Given the description of an element on the screen output the (x, y) to click on. 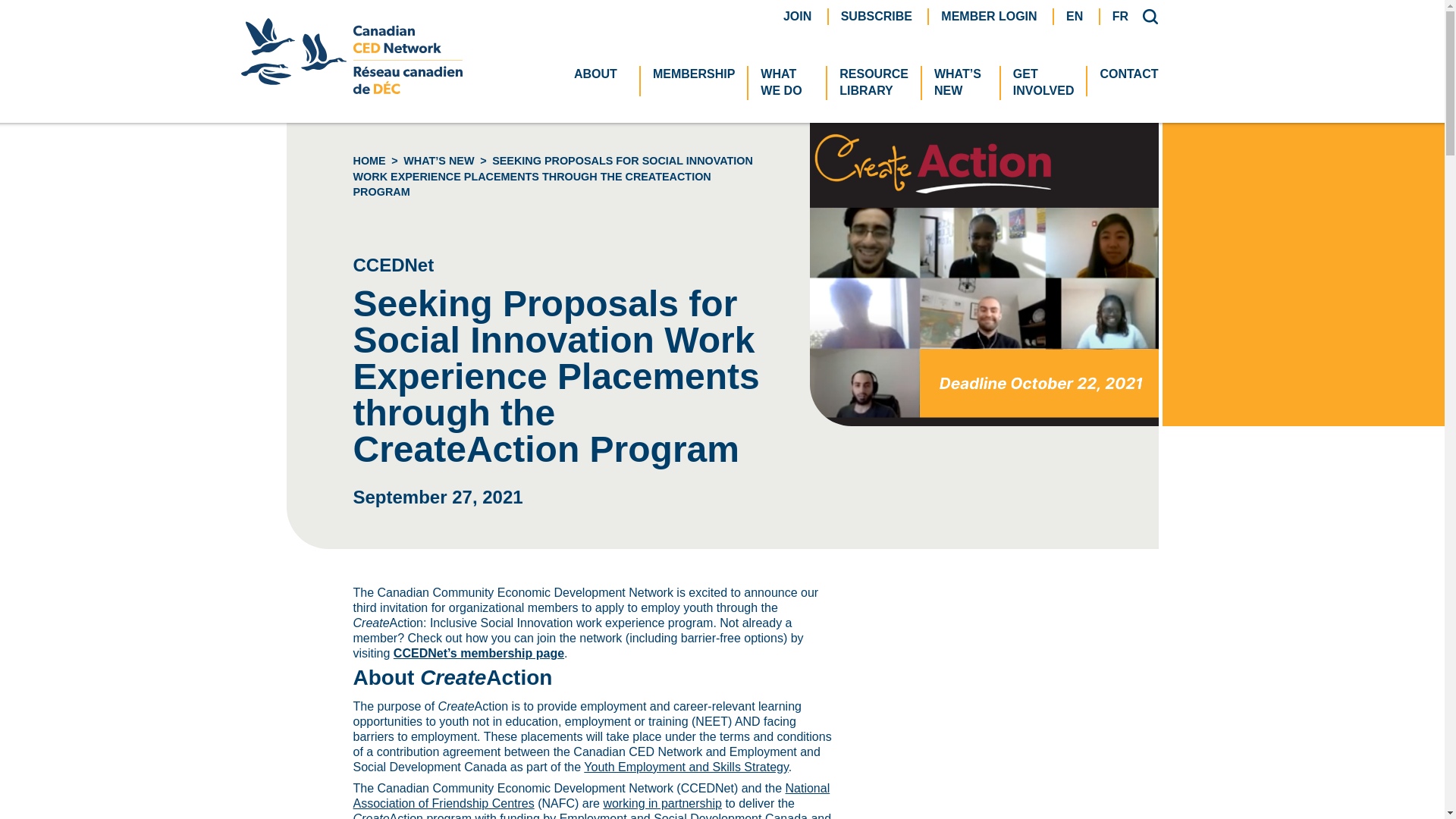
EN (1074, 15)
MEMBERSHIP (693, 74)
Youth Employment and Skills Strategy (685, 766)
GET INVOLVED (1043, 82)
MEMBER LOGIN (988, 15)
CONTACT (1128, 74)
JOIN (796, 15)
ABOUT (600, 74)
Canadian CED Network (786, 82)
SUBSCRIBE (352, 89)
HOME (876, 15)
RESOURCE LIBRARY (369, 160)
Home (874, 82)
Skip to content (369, 160)
